Given the description of an element on the screen output the (x, y) to click on. 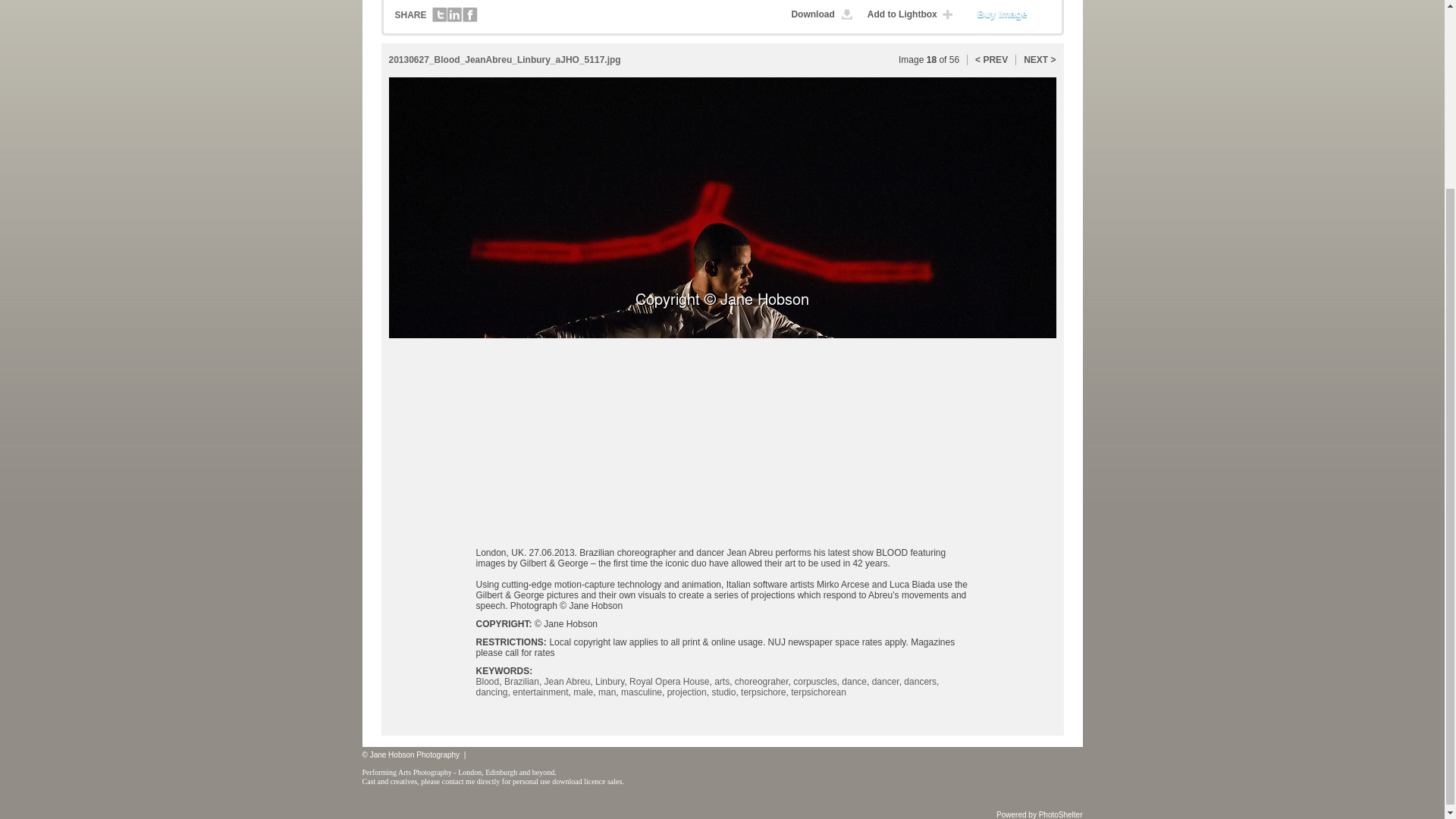
Add to Lightbox (913, 14)
Buy Image (1011, 14)
Royal Opera House (668, 681)
Linbury (609, 681)
Blood (487, 681)
Jean Abreu (567, 681)
Add to Cart (1011, 14)
Download (824, 14)
choreograher (762, 681)
Brazilian (520, 681)
